Given the description of an element on the screen output the (x, y) to click on. 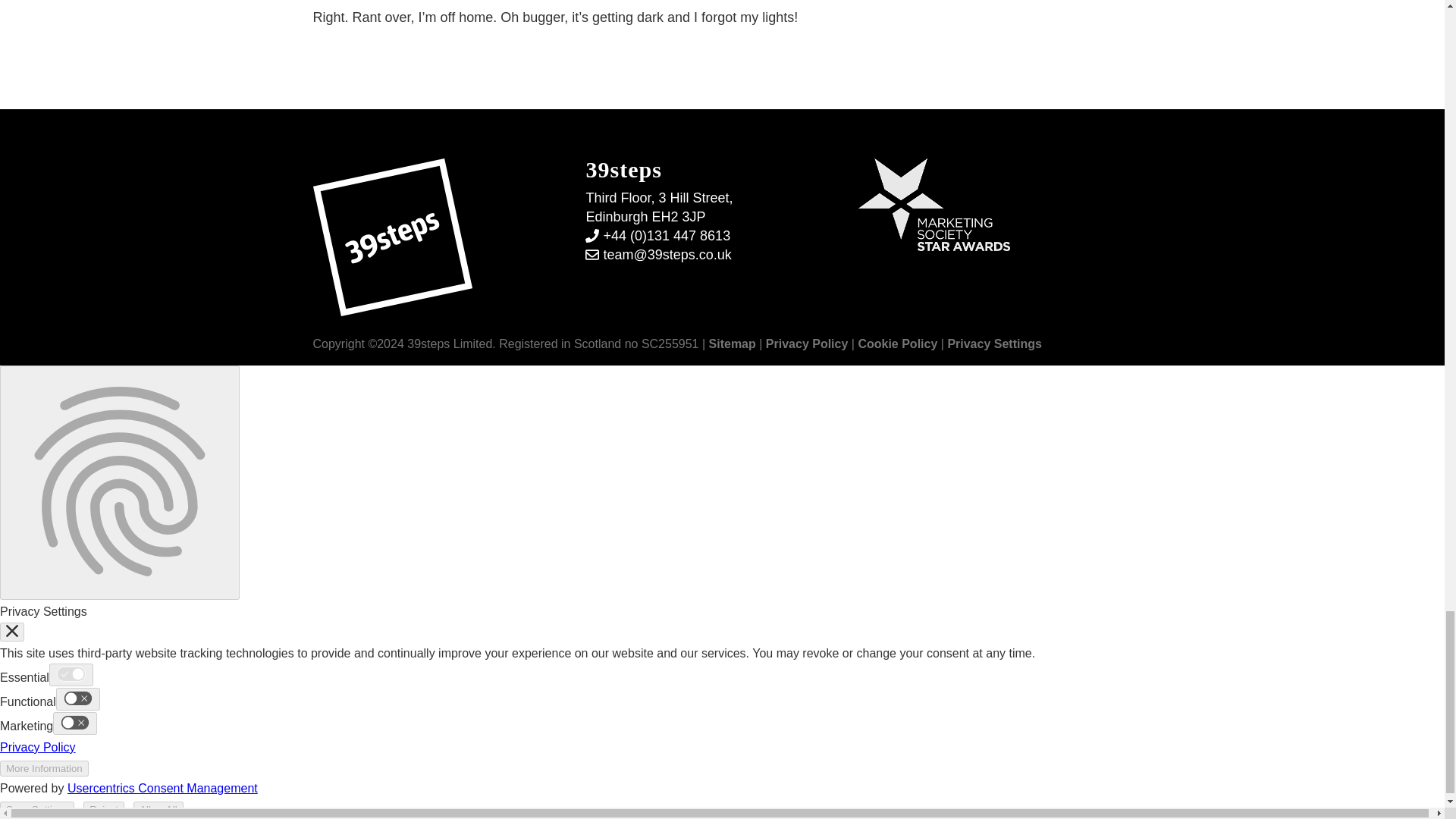
39steps logo for 39steps brand and web design Edinburgh (392, 237)
